Given the description of an element on the screen output the (x, y) to click on. 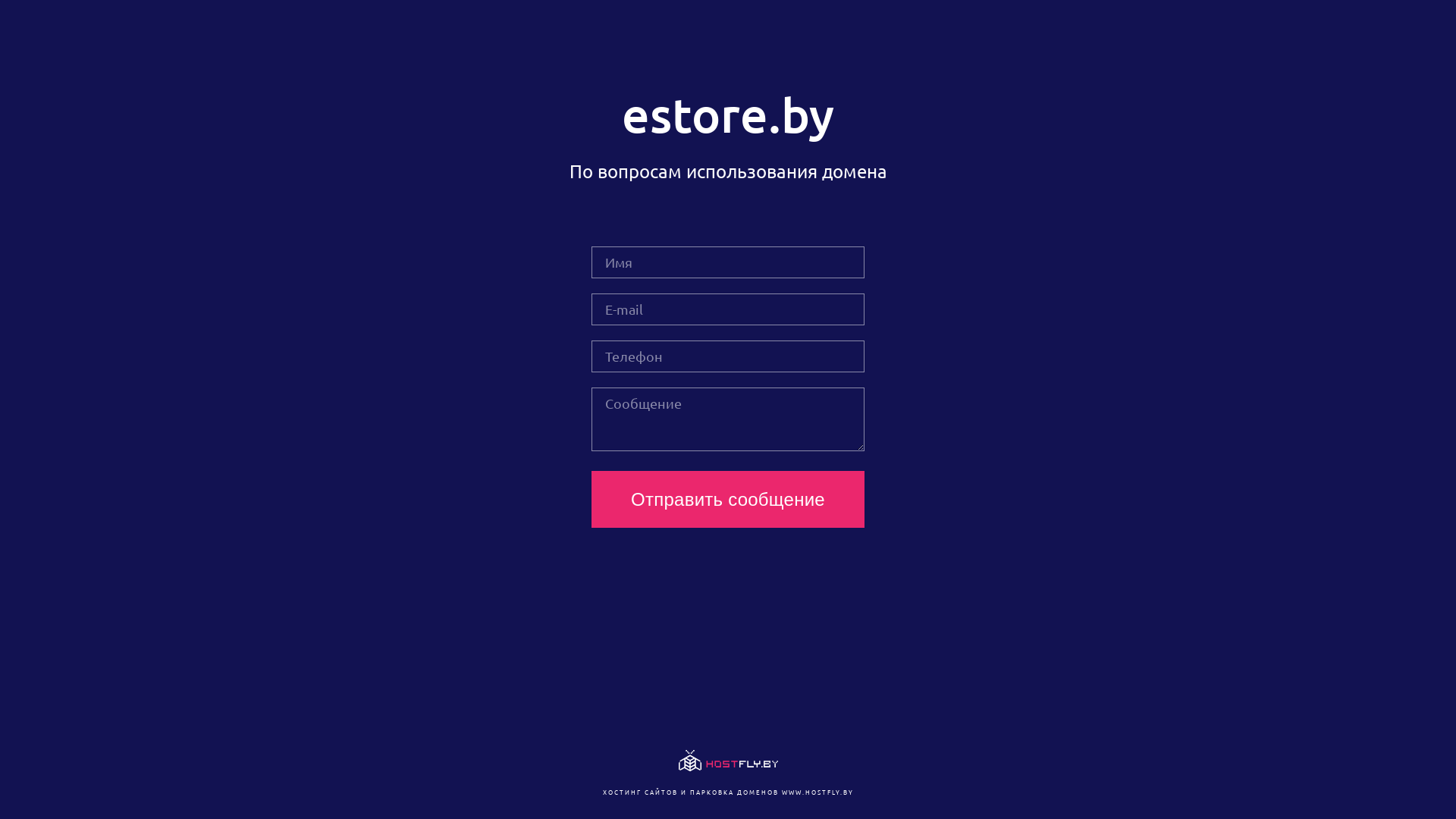
WWW.HOSTFLY.BY Element type: text (817, 791)
